Given the description of an element on the screen output the (x, y) to click on. 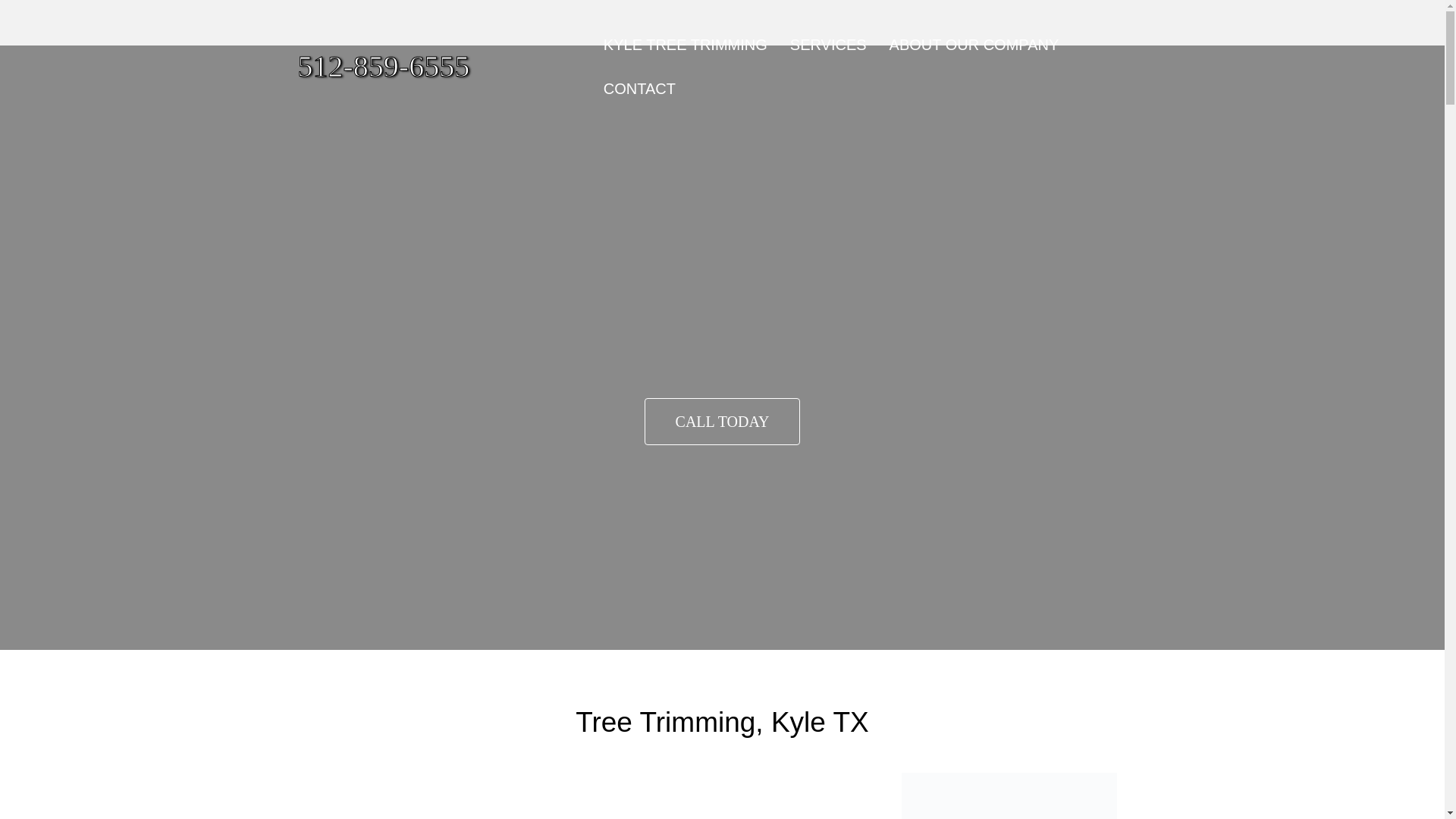
KYLE TREE TRIMMING (685, 44)
CONTACT (639, 88)
CALL TODAY (722, 421)
BannerBlack (1008, 796)
ABOUT OUR COMPANY (973, 44)
SERVICES (827, 44)
512-859-6555 (433, 66)
